Given the description of an element on the screen output the (x, y) to click on. 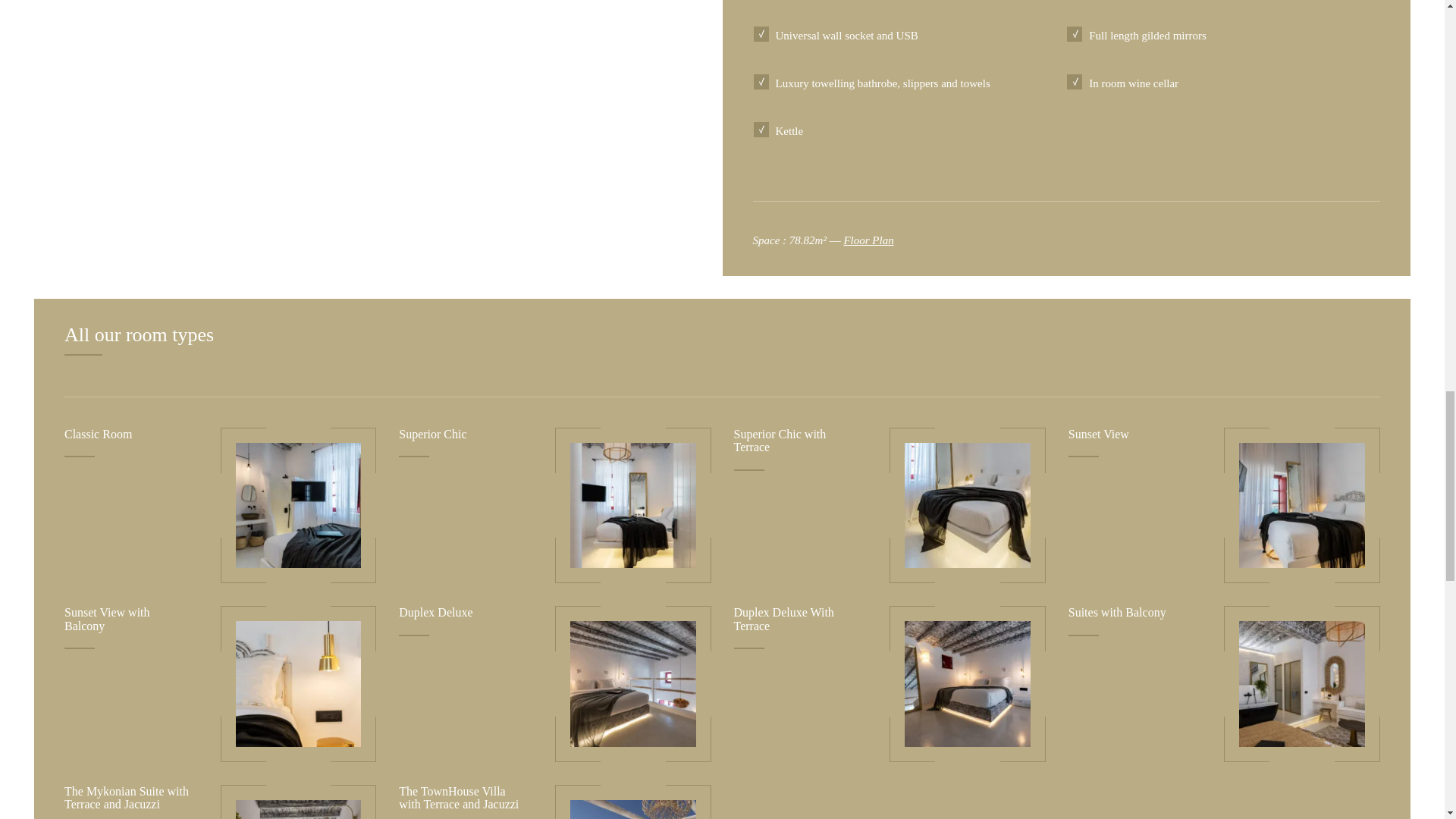
Classic Room (98, 433)
Superior Chic (431, 433)
Superior Chic with Terrace (780, 440)
Sunset View (1098, 433)
Superior Chic (632, 505)
Classic Room (298, 505)
Floor Plan (868, 240)
Classic Room (98, 433)
